Given the description of an element on the screen output the (x, y) to click on. 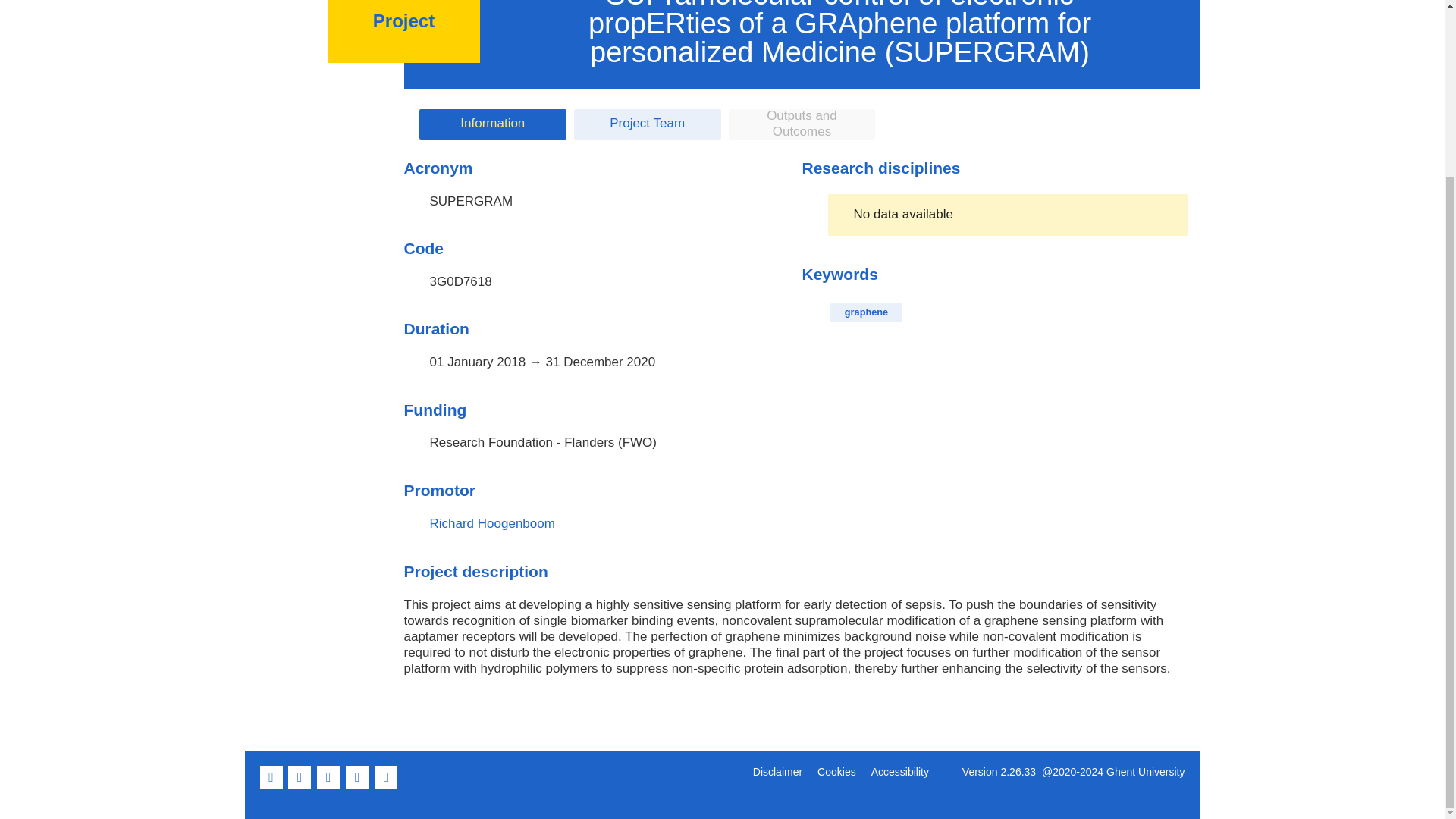
YouTube (358, 784)
Richard Hoogenboom (491, 523)
Twitter (301, 784)
Project Information (492, 123)
Project Team (646, 123)
Project Team (646, 123)
Disclaimer (777, 771)
Instagram (387, 784)
Cookies (836, 771)
Outputs and Outcomes (802, 123)
